Given the description of an element on the screen output the (x, y) to click on. 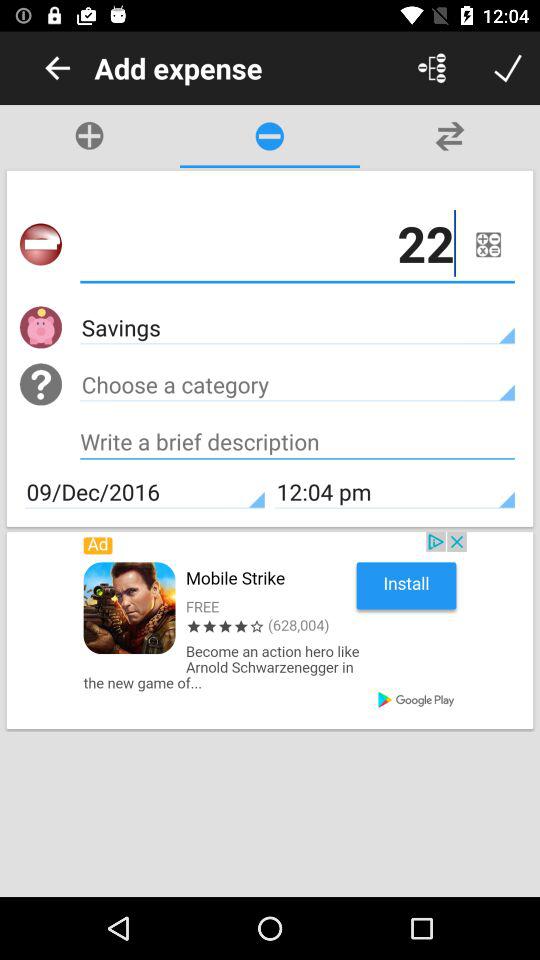
typing number button (297, 444)
